Given the description of an element on the screen output the (x, y) to click on. 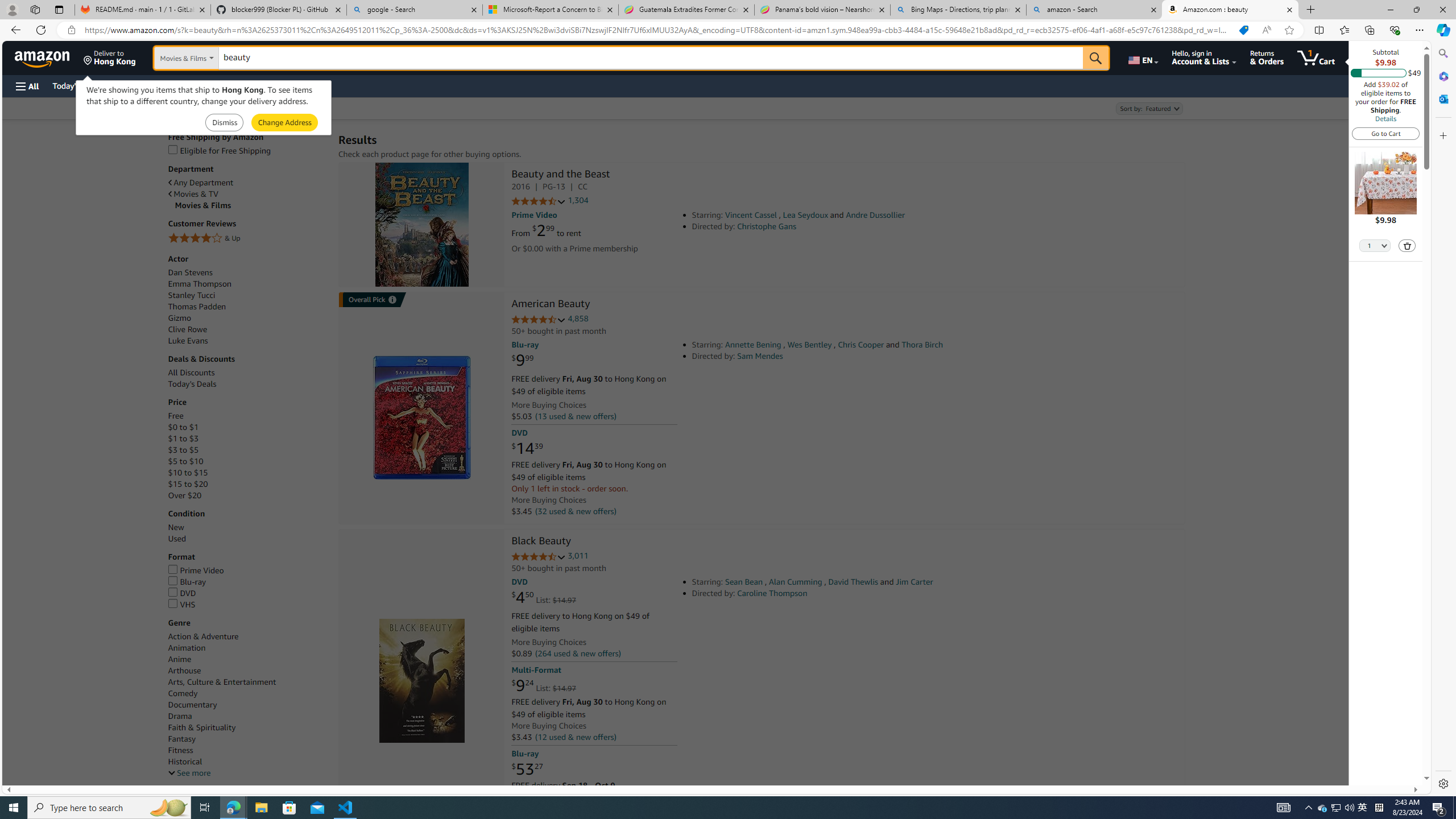
Choose a language for shopping. (1142, 57)
Chris Cooper (860, 344)
All Discounts (191, 372)
Action & Adventure (202, 636)
(12 used & new offers) (574, 736)
VHS (181, 604)
Beauty and the Beast (560, 174)
4,858 (577, 318)
Thomas Padden (247, 307)
Clive Rowe (187, 329)
Deliver to Hong Kong (109, 57)
